Given the description of an element on the screen output the (x, y) to click on. 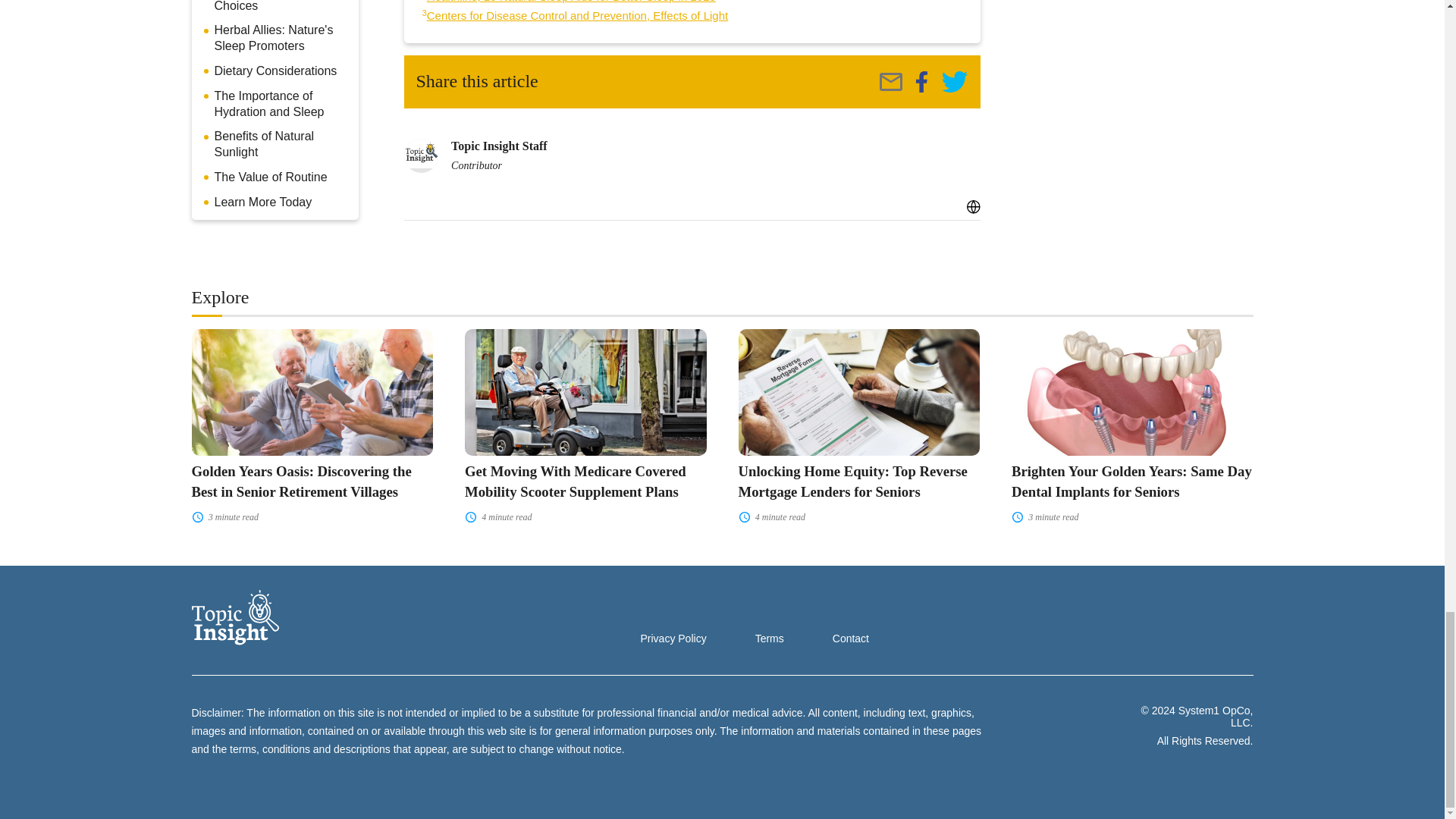
Healthline, 10 Natural Sleep Aids for Better Sleep in 2023 (571, 1)
Share by Email (890, 81)
Centers for Disease Control and Prevention, Effects of Light (577, 15)
